Given the description of an element on the screen output the (x, y) to click on. 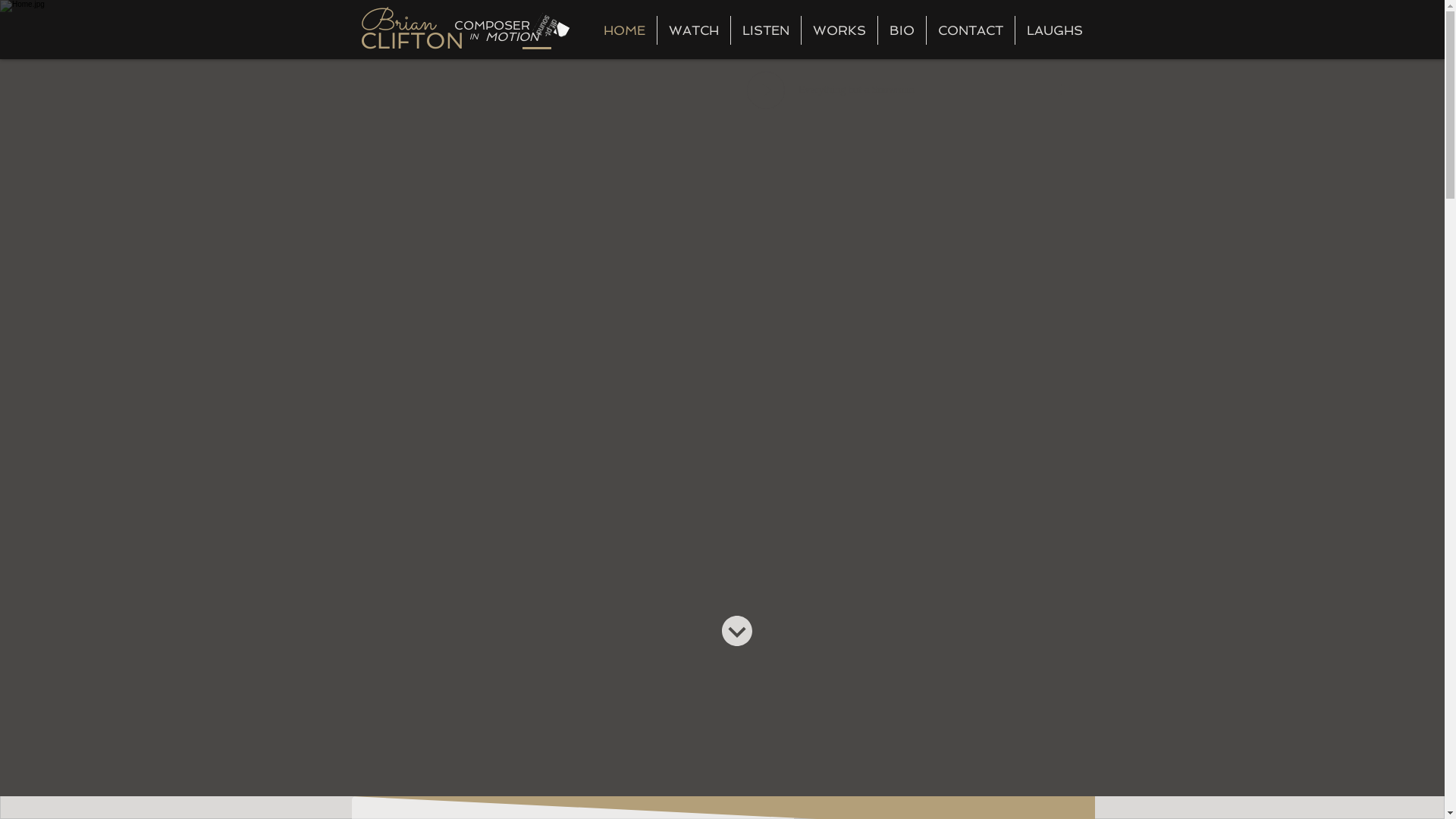
HOME Element type: text (623, 29)
Wix Music Element type: hover (914, 94)
CONTACT Element type: text (970, 29)
LAUGHS Element type: text (1053, 29)
WATCH Element type: text (692, 29)
BIO Element type: text (901, 29)
WORKS Element type: text (838, 29)
LISTEN Element type: text (765, 29)
